Given the description of an element on the screen output the (x, y) to click on. 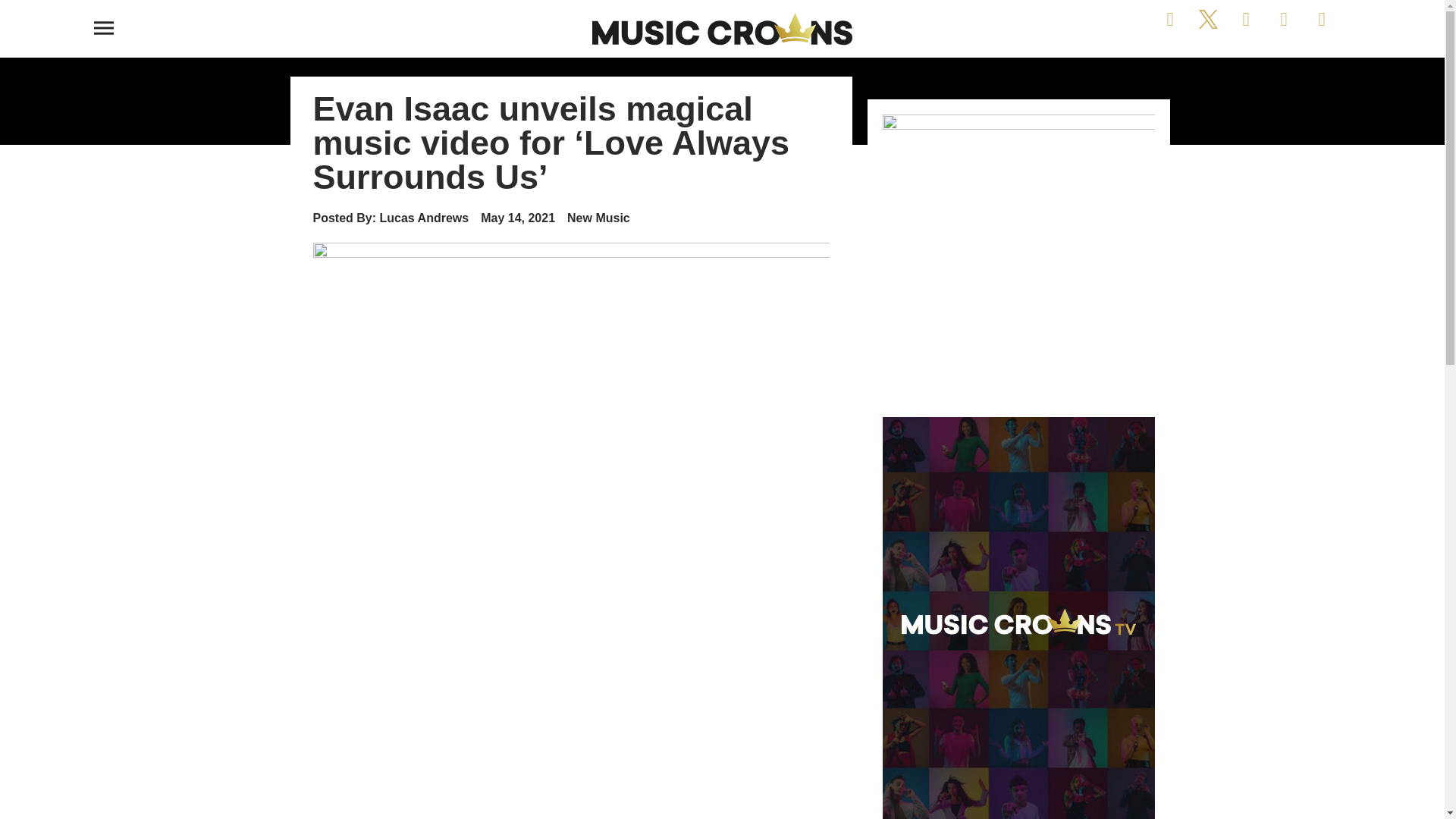
New Music (598, 217)
